Given the description of an element on the screen output the (x, y) to click on. 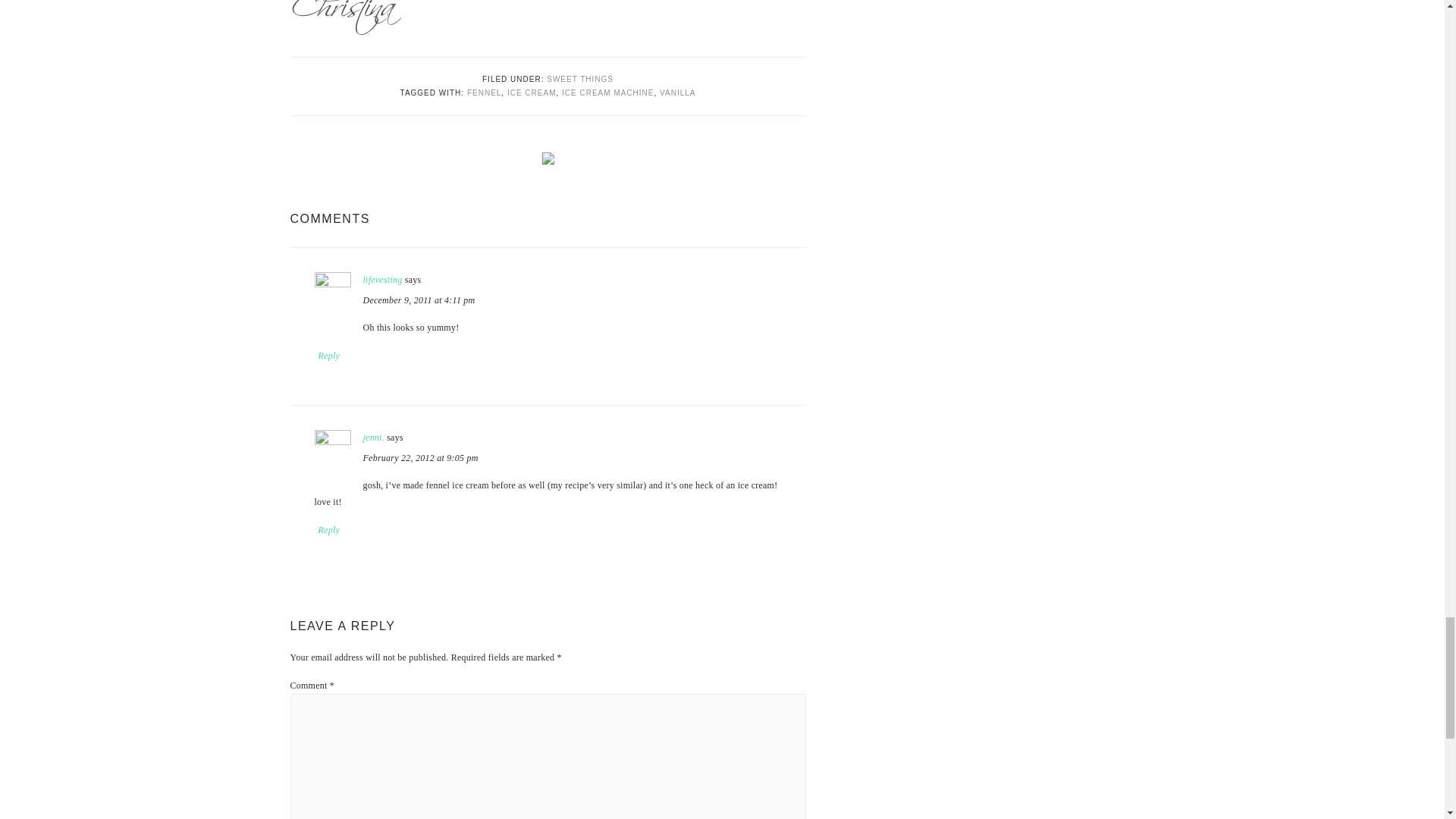
ICE CREAM MACHINE (607, 92)
lifevesting (381, 279)
ICE CREAM (531, 92)
Reply (328, 355)
jenni. (373, 437)
February 22, 2012 at 9:05 pm (419, 457)
December 9, 2011 at 4:11 pm (418, 299)
FENNEL (483, 92)
SWEET THINGS (579, 79)
Reply (328, 530)
VANILLA (677, 92)
